Given the description of an element on the screen output the (x, y) to click on. 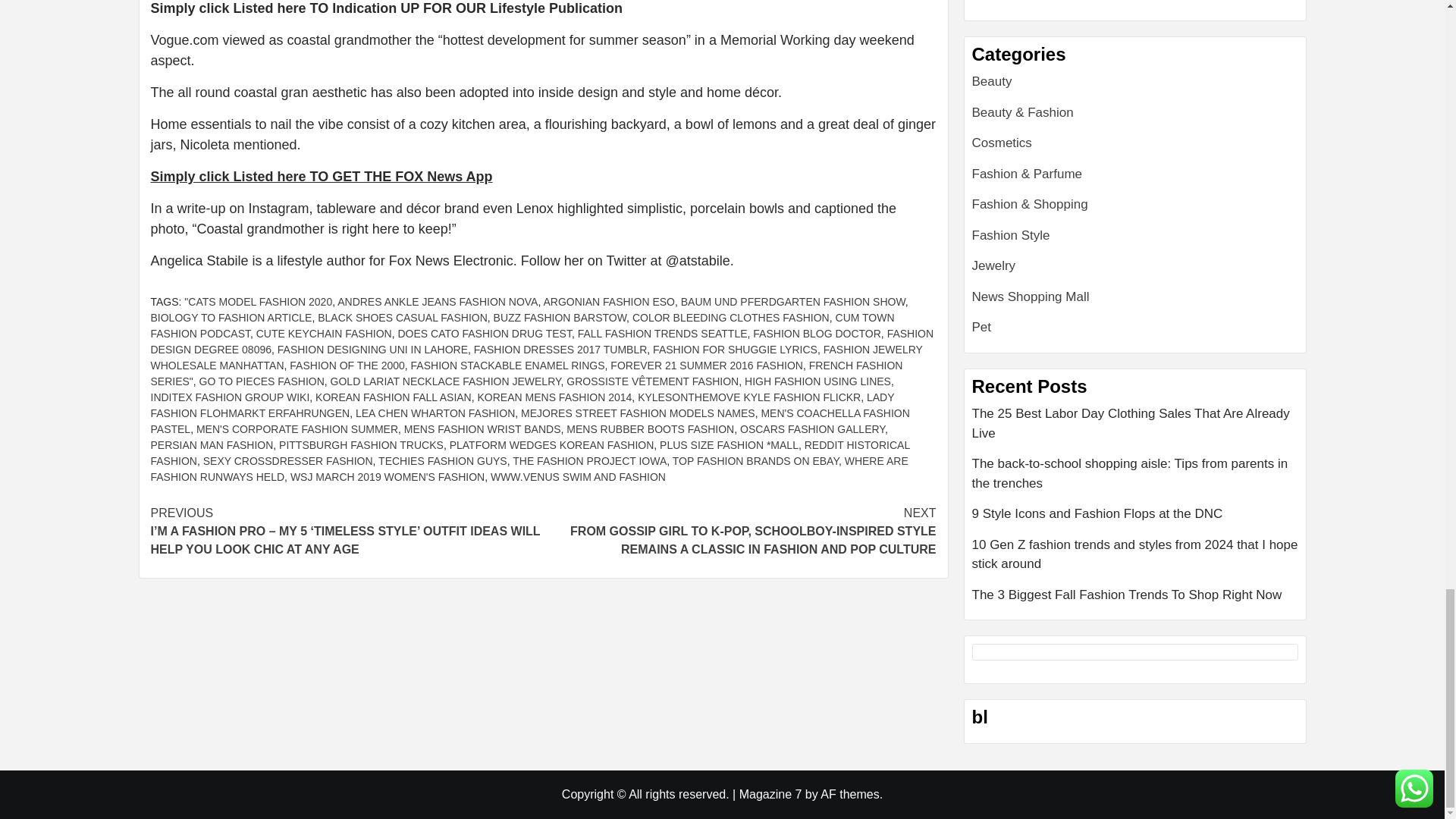
FASHION OF THE 2000 (346, 365)
BLACK SHOES CASUAL FASHION (402, 317)
FASHION DESIGNING UNI IN LAHORE (372, 349)
FASHION DESIGN DEGREE 08096 (541, 341)
CUTE KEYCHAIN FASHION (323, 333)
BUZZ FASHION BARSTOW (560, 317)
CUM TOWN FASHION PODCAST (521, 325)
COLOR BLEEDING CLOTHES FASHION (730, 317)
BIOLOGY TO FASHION ARTICLE (230, 317)
FASHION STACKABLE ENAMEL RINGS (507, 365)
